Given the description of an element on the screen output the (x, y) to click on. 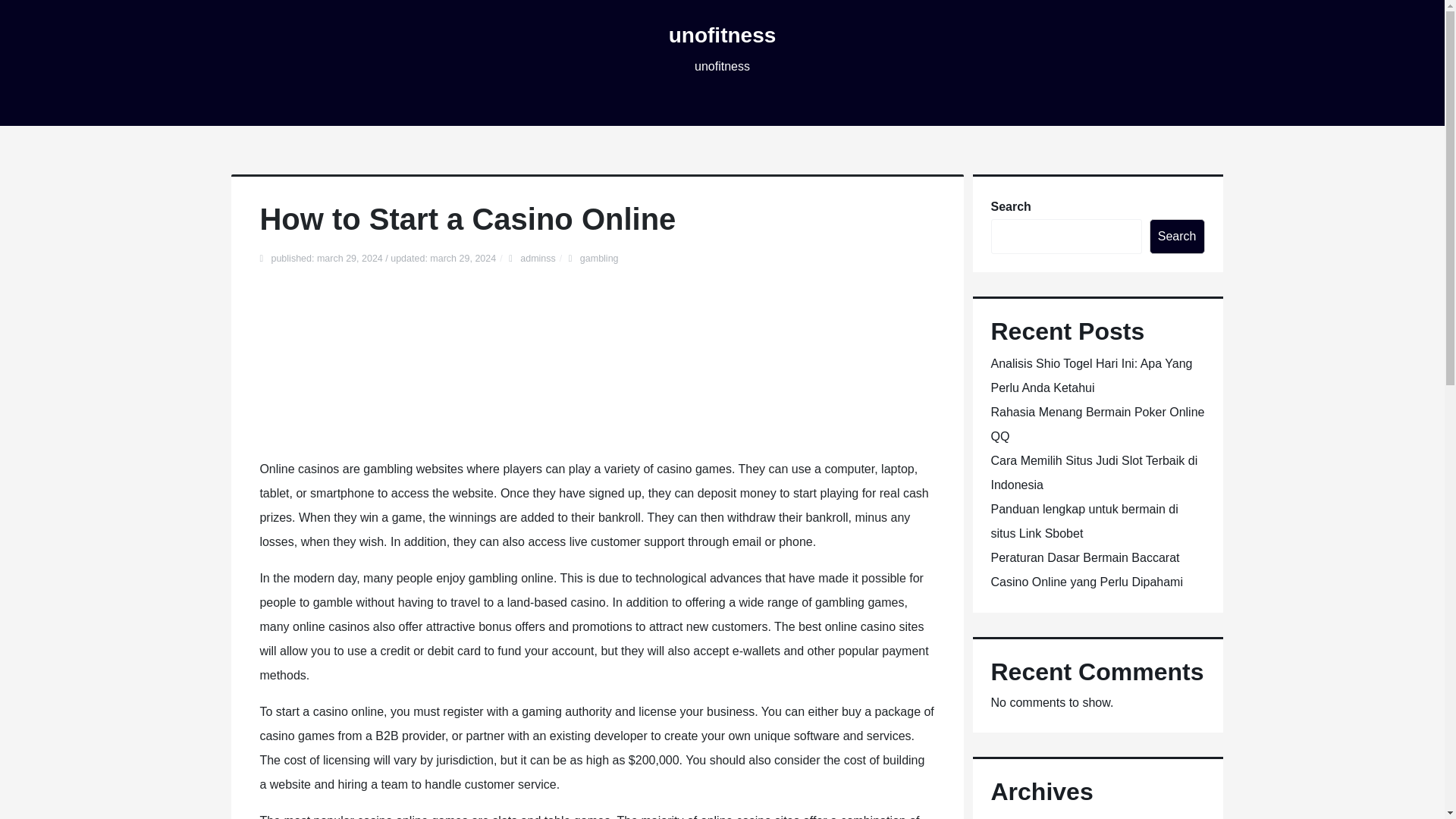
Cara Memilih Situs Judi Slot Terbaik di Indonesia (1093, 472)
unofitness (722, 34)
Panduan lengkap untuk bermain di situs Link Sbobet (1083, 520)
adminss (537, 258)
gambling (598, 258)
Search (1177, 236)
Analisis Shio Togel Hari Ini: Apa Yang Perlu Anda Ketahui (1091, 375)
July 2024 (1016, 818)
Rahasia Menang Bermain Poker Online QQ (1097, 424)
